Given the description of an element on the screen output the (x, y) to click on. 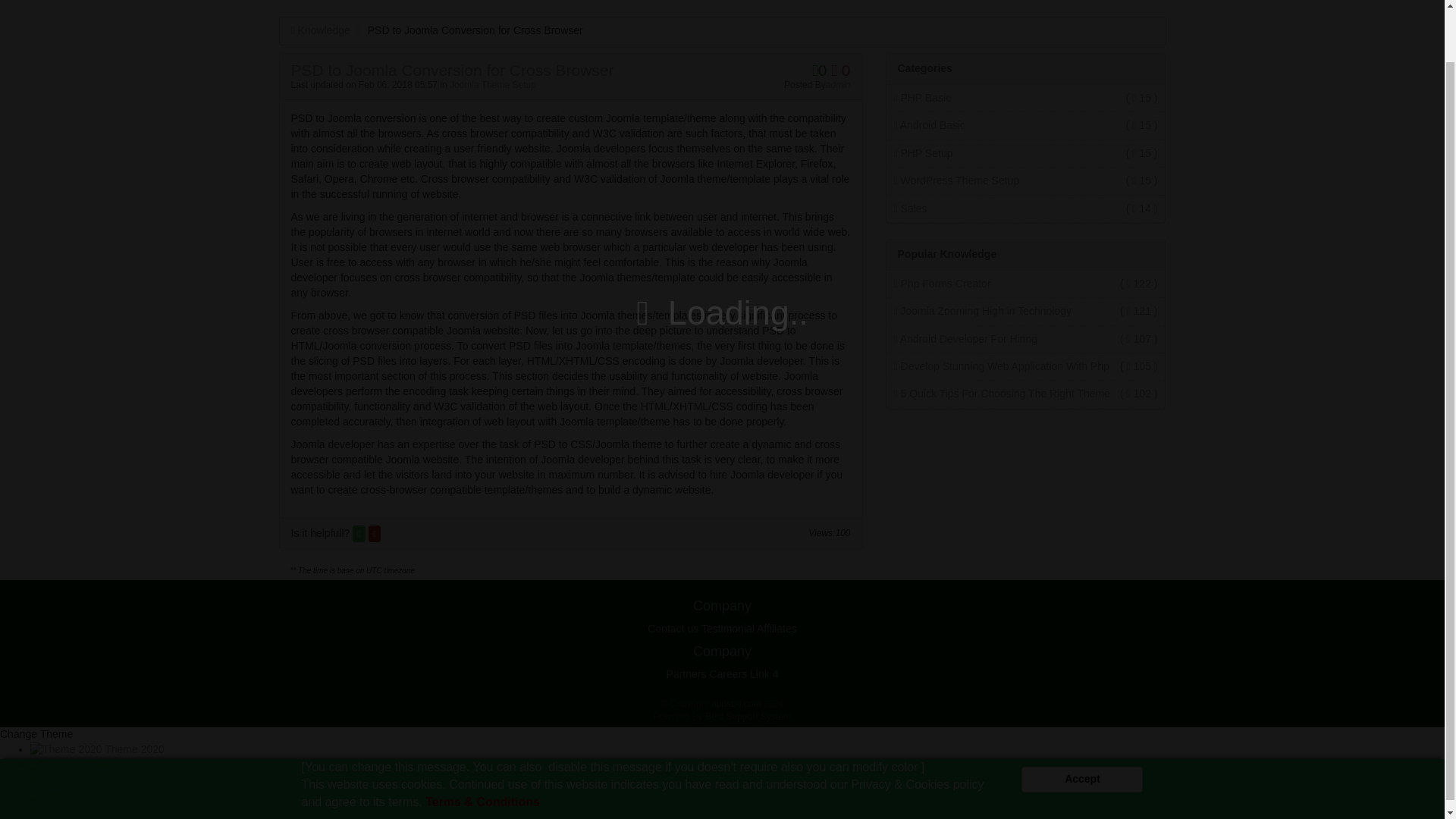
Knowledge (320, 30)
Theme 4 (79, 810)
Theme 2 (79, 779)
Joomla Theme Setup (492, 84)
Contact us (672, 628)
Testimonial (727, 628)
Theme 1 (79, 764)
Best Support System (747, 716)
admin (837, 84)
Accept (1082, 722)
Partners (686, 674)
Link 4 (763, 674)
appsbd.com (735, 703)
Theme 2020 (97, 748)
Theme 3 (79, 795)
